Given the description of an element on the screen output the (x, y) to click on. 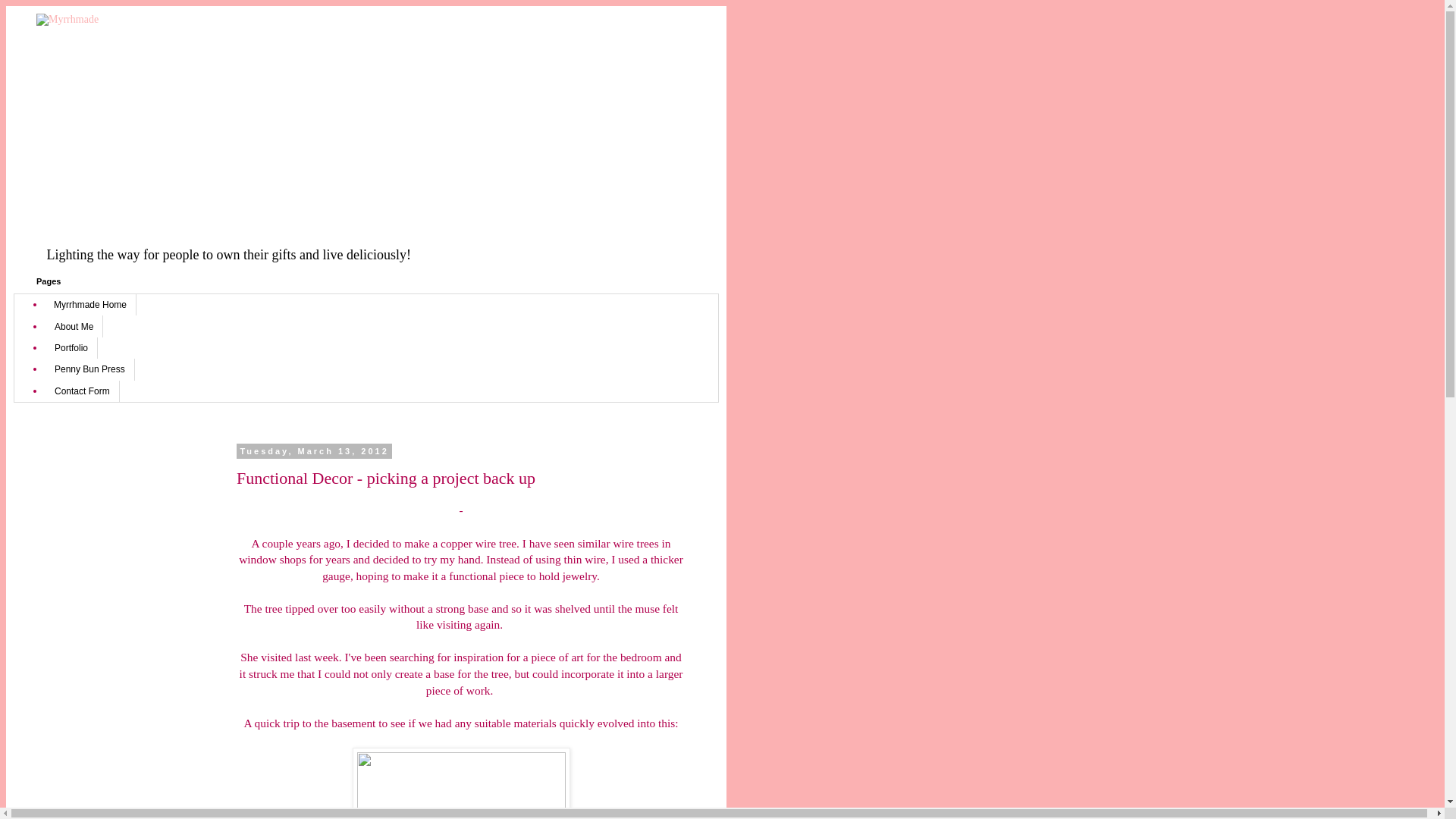
Portfolio (71, 347)
Penny Bun Press (90, 369)
Myrrhmade Home (90, 304)
About Me (74, 325)
Contact Form (82, 391)
